Given the description of an element on the screen output the (x, y) to click on. 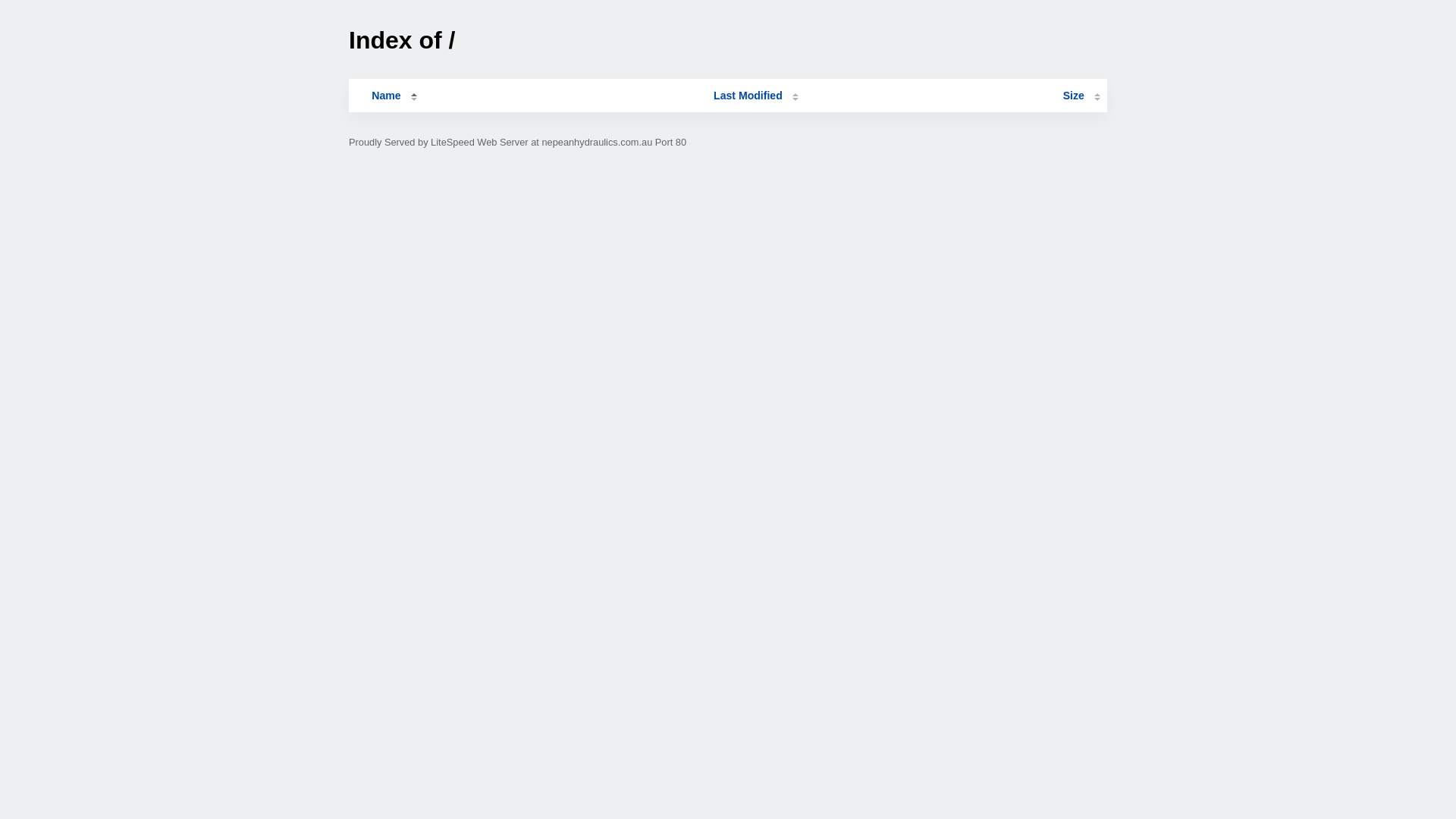
Last Modified Element type: text (755, 95)
Size Element type: text (1081, 95)
Name Element type: text (385, 95)
